Given the description of an element on the screen output the (x, y) to click on. 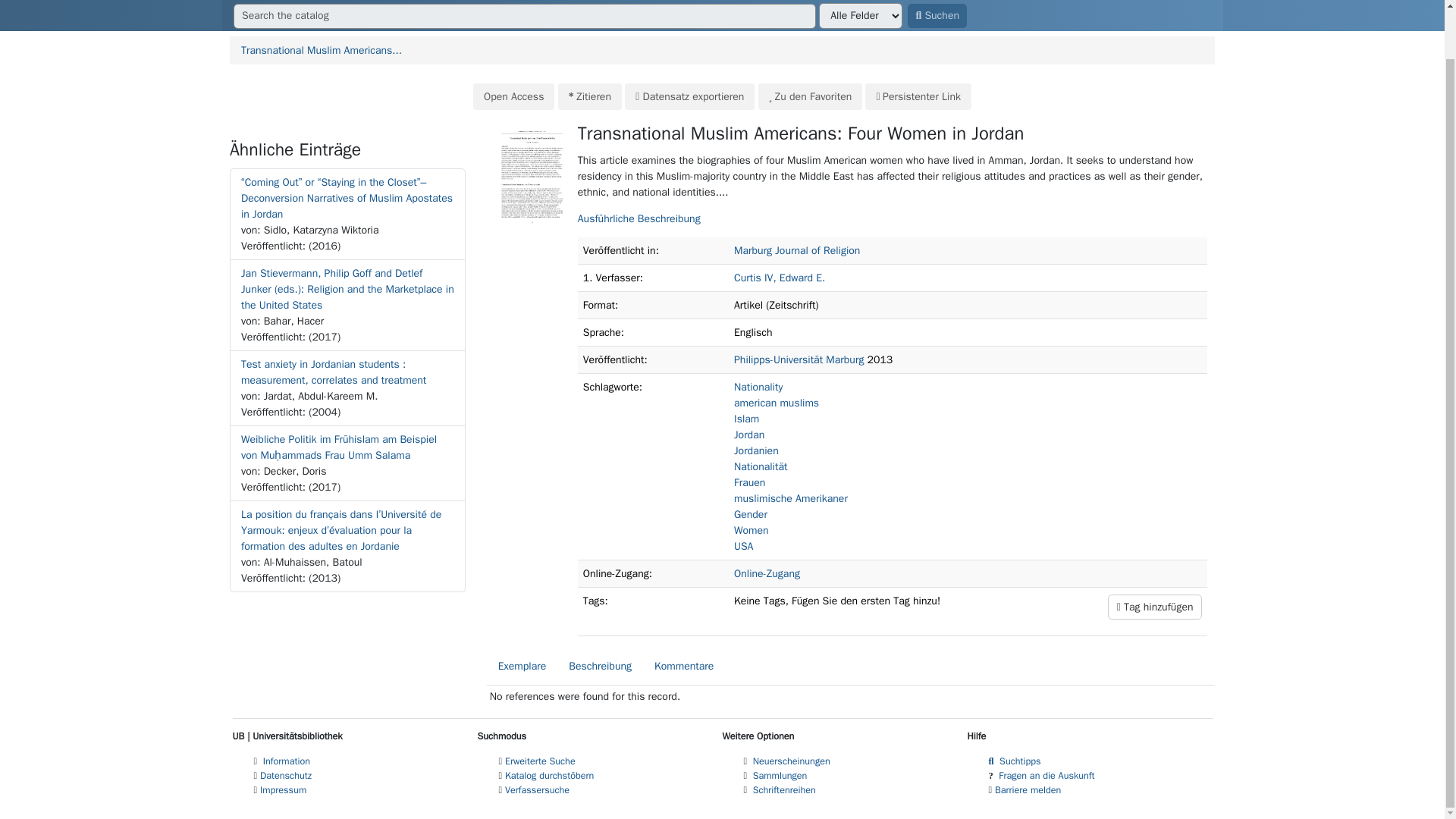
Gender (750, 513)
Publikationsserver (368, 1)
Women (750, 530)
Nationality (758, 386)
Jordan (748, 434)
USA (742, 545)
muslimische Amerikaner (790, 498)
Islam (745, 418)
Frauen (749, 481)
american muslims (775, 402)
